Given the description of an element on the screen output the (x, y) to click on. 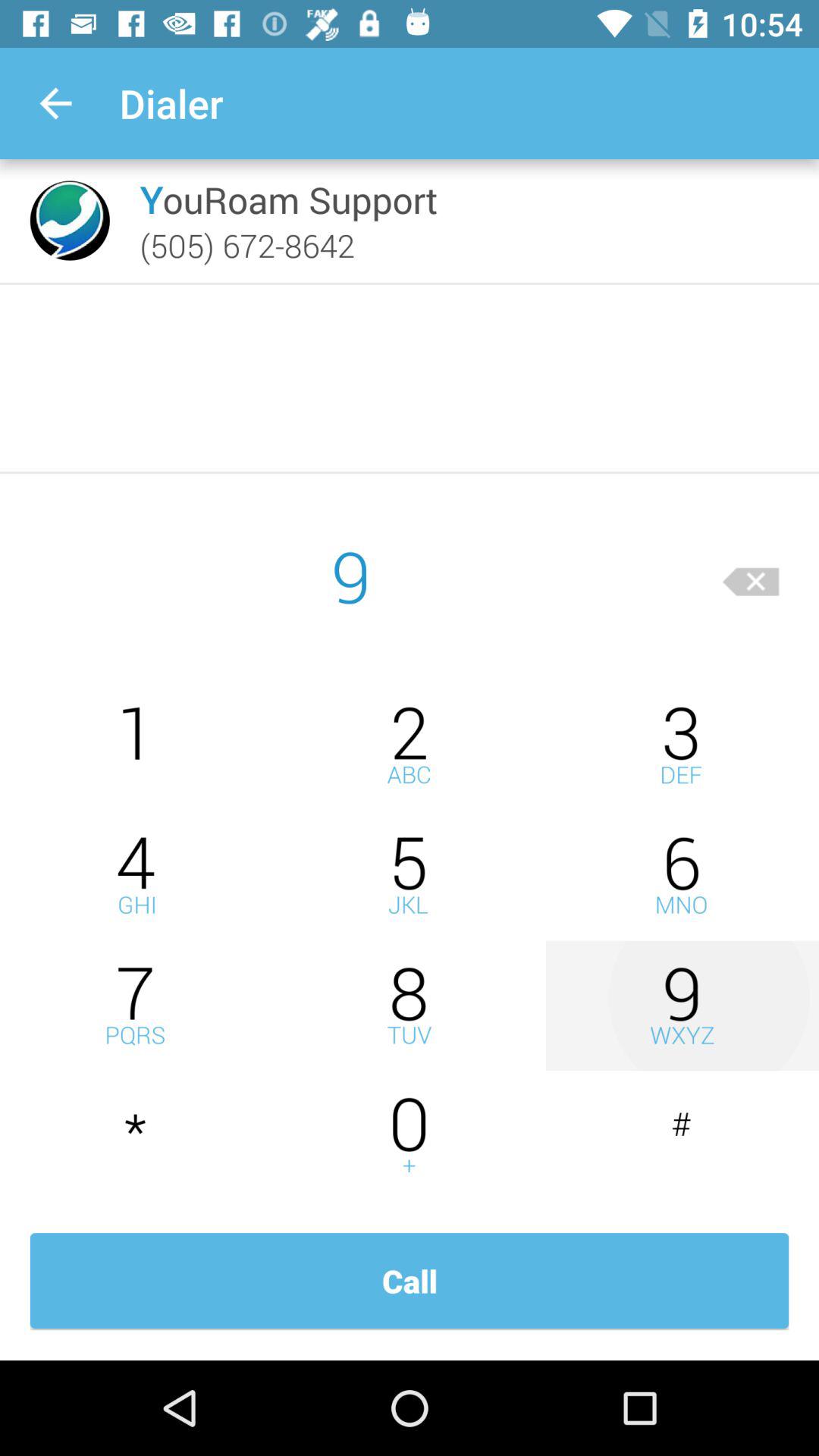
number nine (682, 1005)
